Given the description of an element on the screen output the (x, y) to click on. 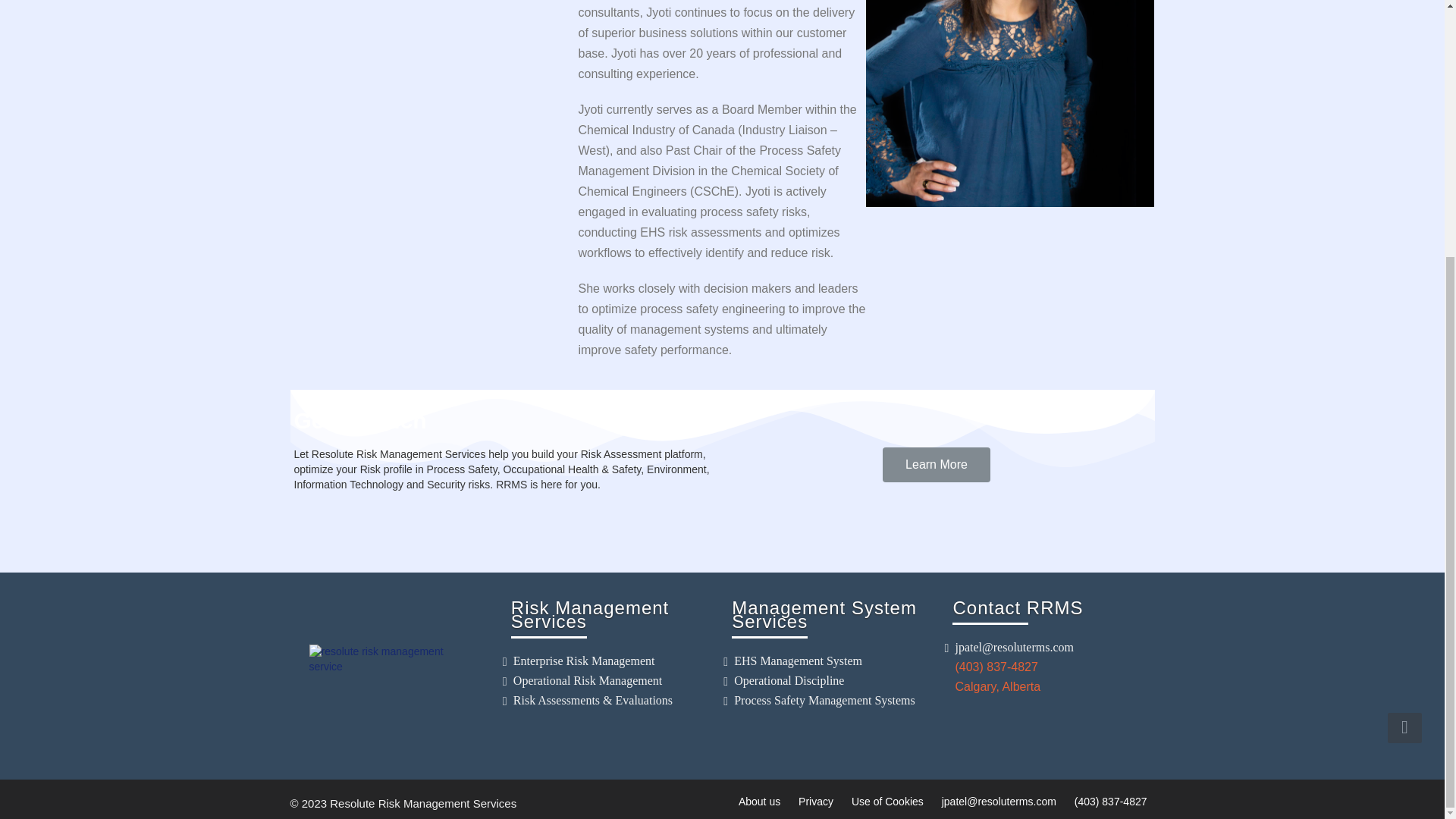
EHS Management System (797, 660)
Go Top (1404, 363)
Operational Discipline (788, 680)
Enterprise Risk Management (584, 660)
Learn More (936, 464)
Operational Risk Management (587, 680)
Process Safety Management Systems (824, 699)
About us (759, 801)
